Given the description of an element on the screen output the (x, y) to click on. 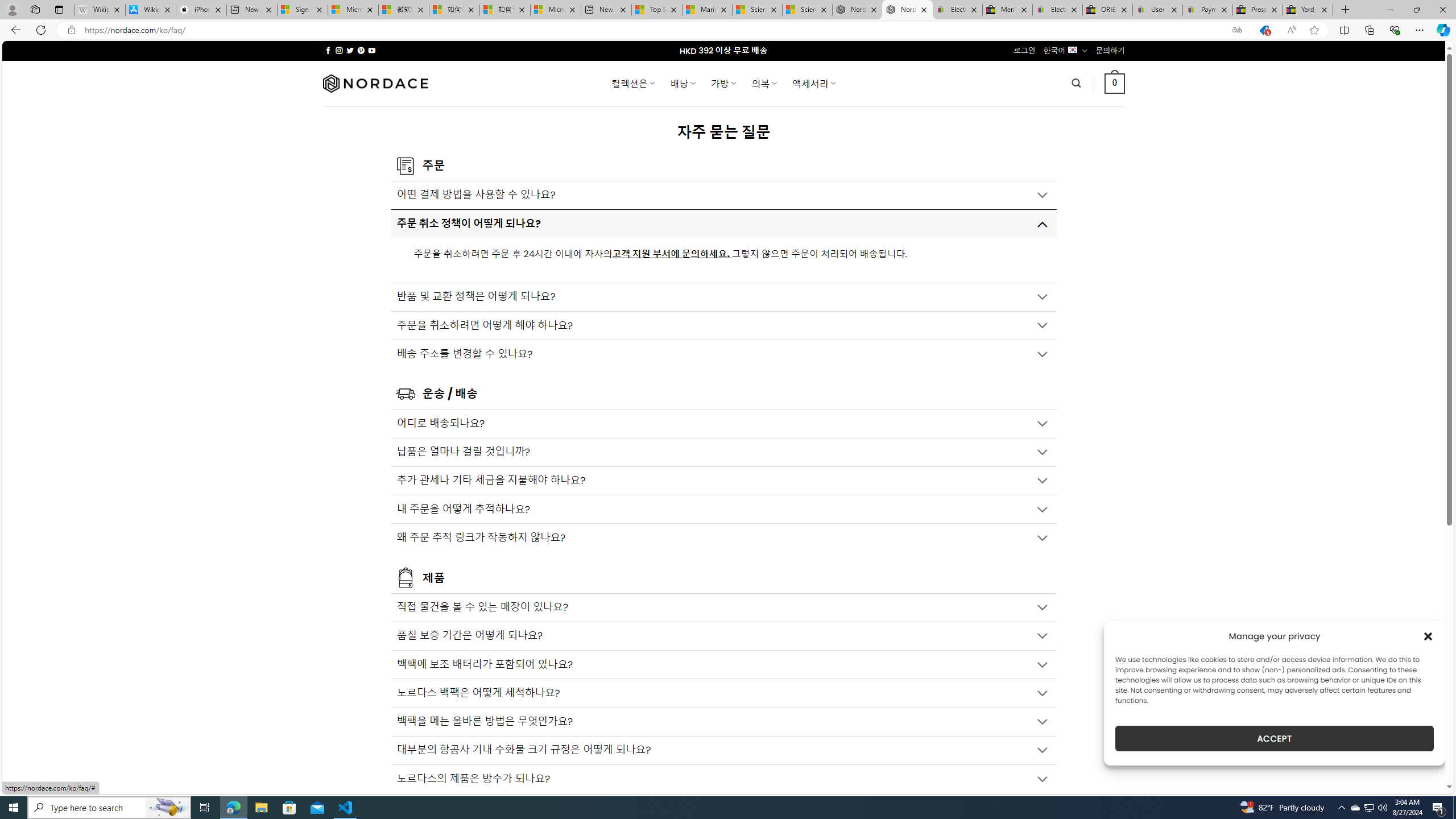
  0   (1115, 83)
Payments Terms of Use | eBay.com (1207, 9)
This site has coupons! Shopping in Microsoft Edge, 5 (1263, 29)
Marine life - MSN (706, 9)
Follow on Twitter (349, 50)
